Given the description of an element on the screen output the (x, y) to click on. 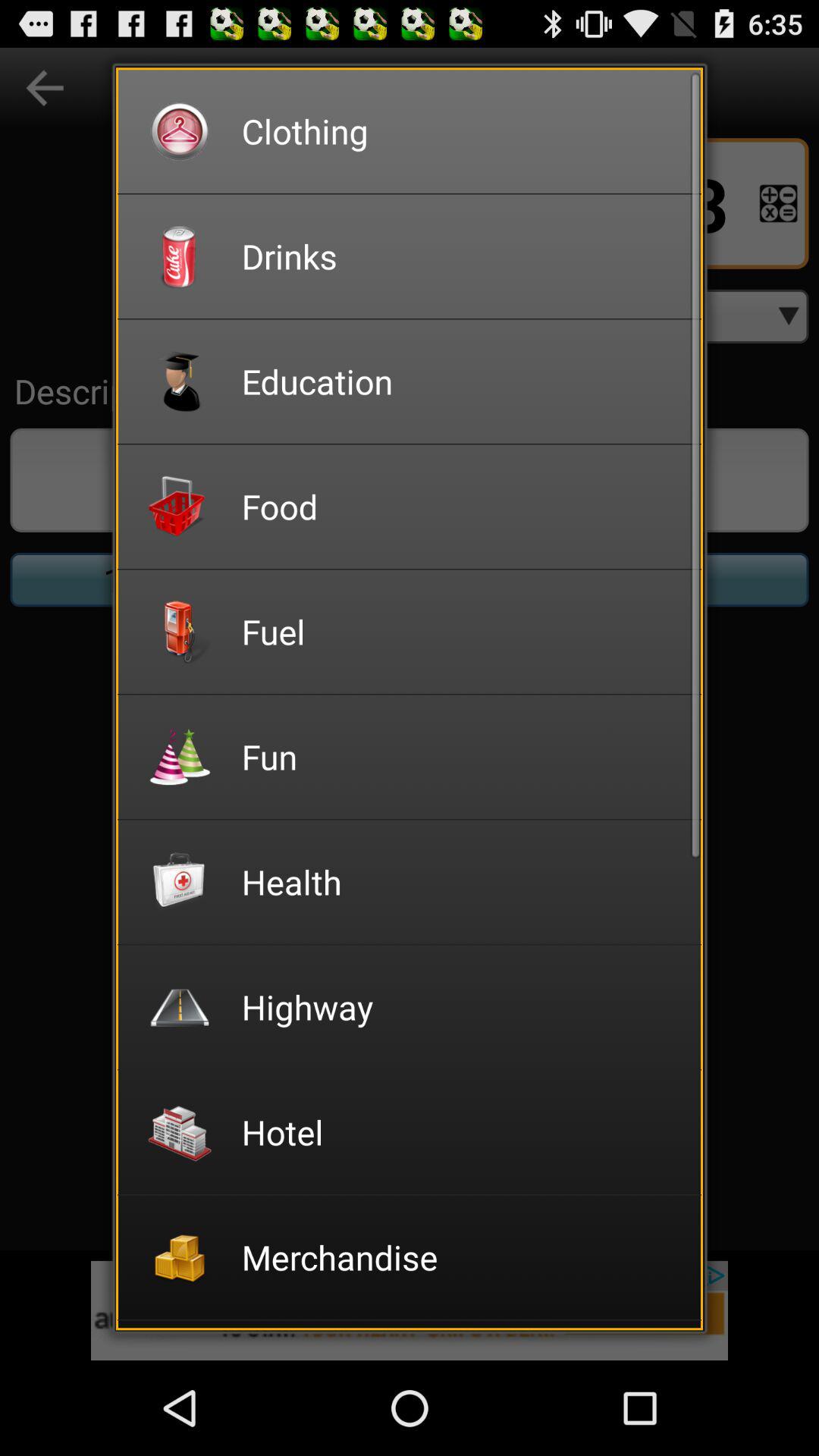
choose the drinks (461, 256)
